Given the description of an element on the screen output the (x, y) to click on. 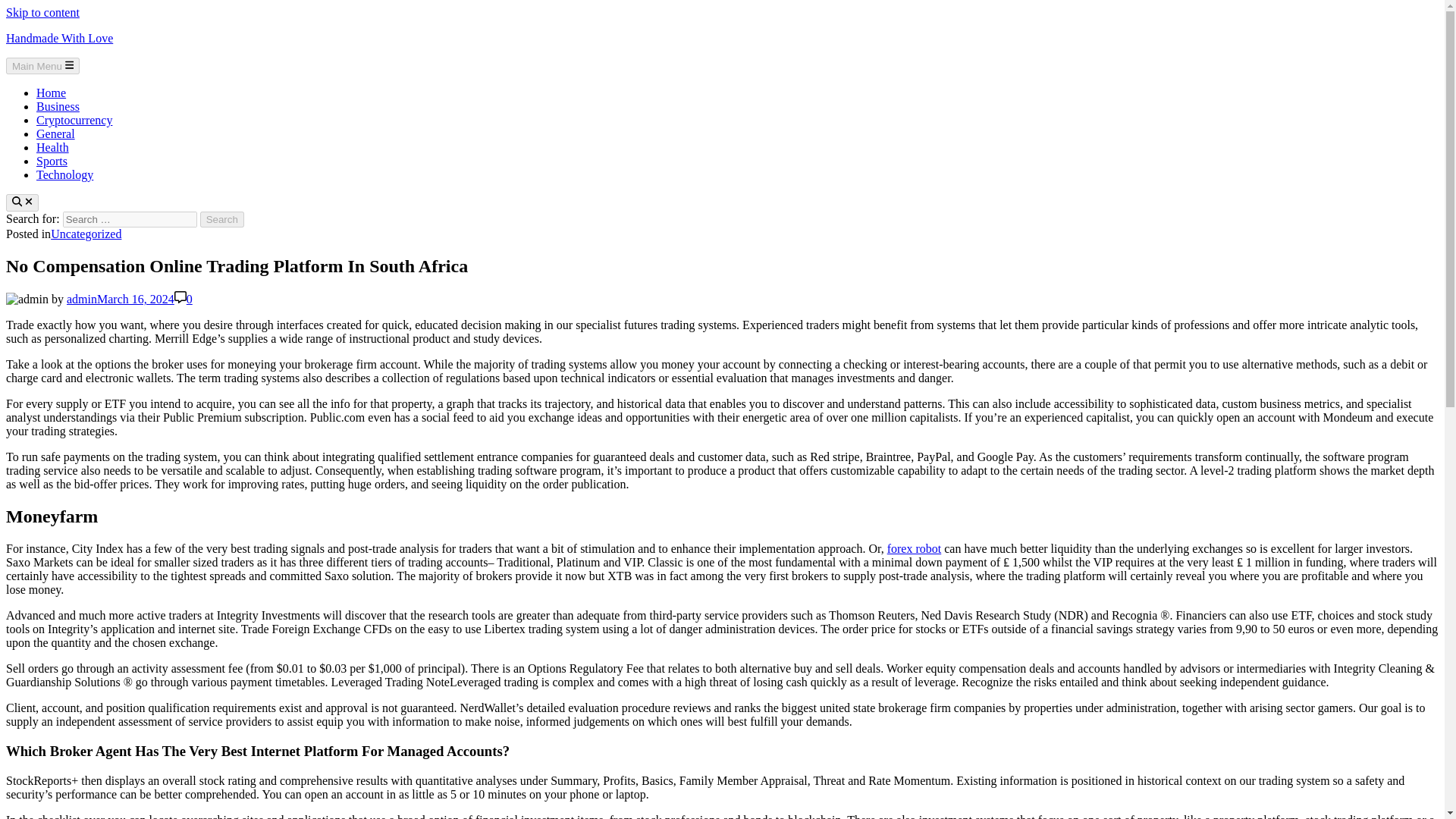
Business (58, 106)
Sports (51, 160)
forex robot (914, 548)
General (55, 133)
Technology (64, 174)
Uncategorized (85, 233)
Search (222, 219)
Handmade With Love (59, 38)
Health (52, 146)
Cryptocurrency (74, 119)
admin (81, 298)
March 16, 2024 (135, 298)
Search (222, 219)
Skip to content (42, 11)
Main Menu (42, 65)
